Given the description of an element on the screen output the (x, y) to click on. 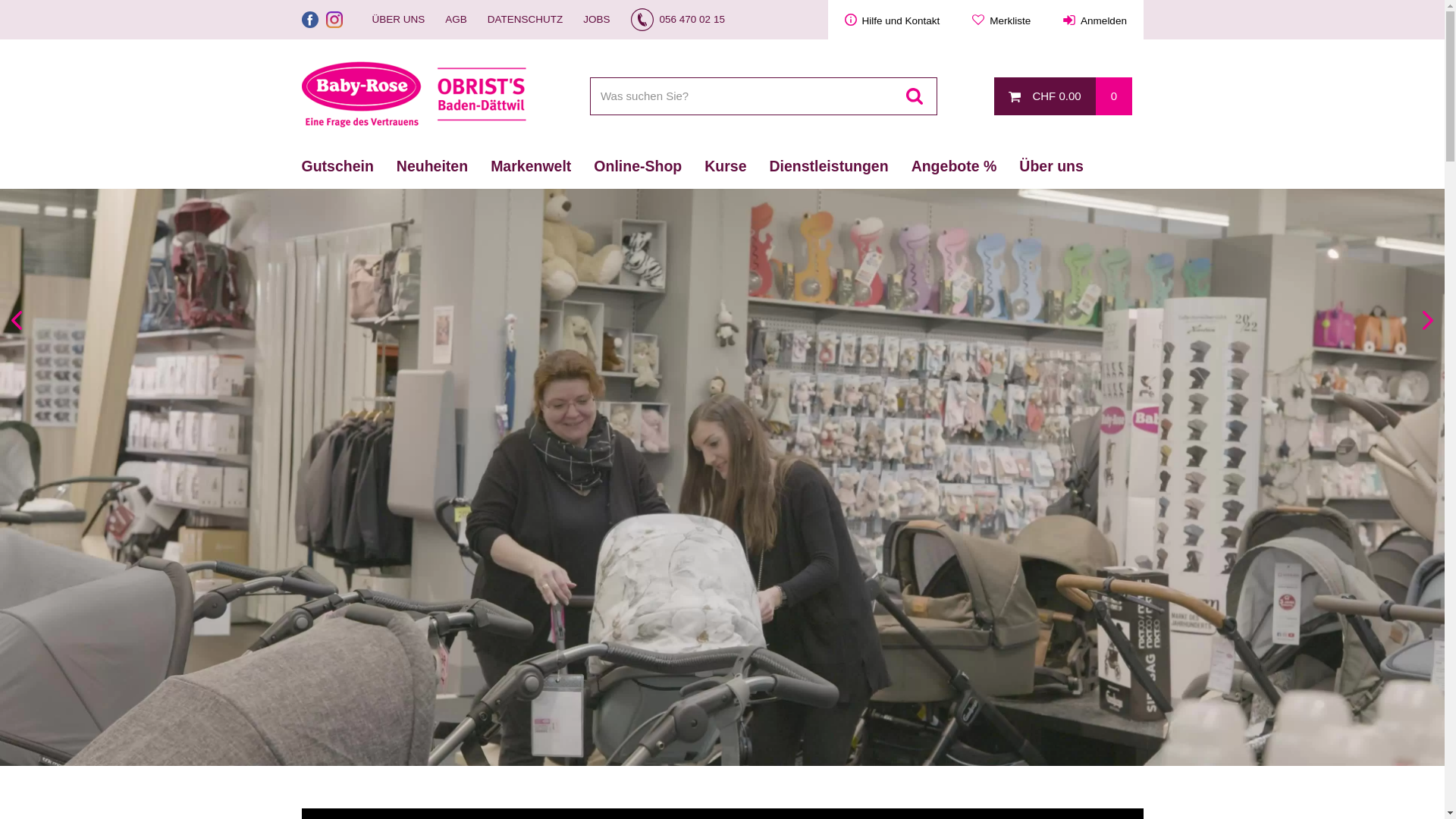
JOBS Element type: text (596, 19)
Anmelden Element type: text (1095, 19)
Hilfe und Kontakt Element type: text (892, 19)
Gutschein Element type: text (337, 165)
Angebote % Element type: text (954, 165)
Merkliste Element type: text (1001, 19)
Kurse Element type: text (725, 165)
0 Element type: text (1113, 96)
Neuheiten Element type: text (431, 165)
CHF 0.00 Element type: text (1044, 96)
056 470 02 15 Element type: text (677, 19)
Dienstleistungen Element type: text (828, 165)
DATENSCHUTZ Element type: text (525, 19)
Online-Shop Element type: text (637, 165)
Markenwelt Element type: text (530, 165)
AGB Element type: text (456, 19)
